Given the description of an element on the screen output the (x, y) to click on. 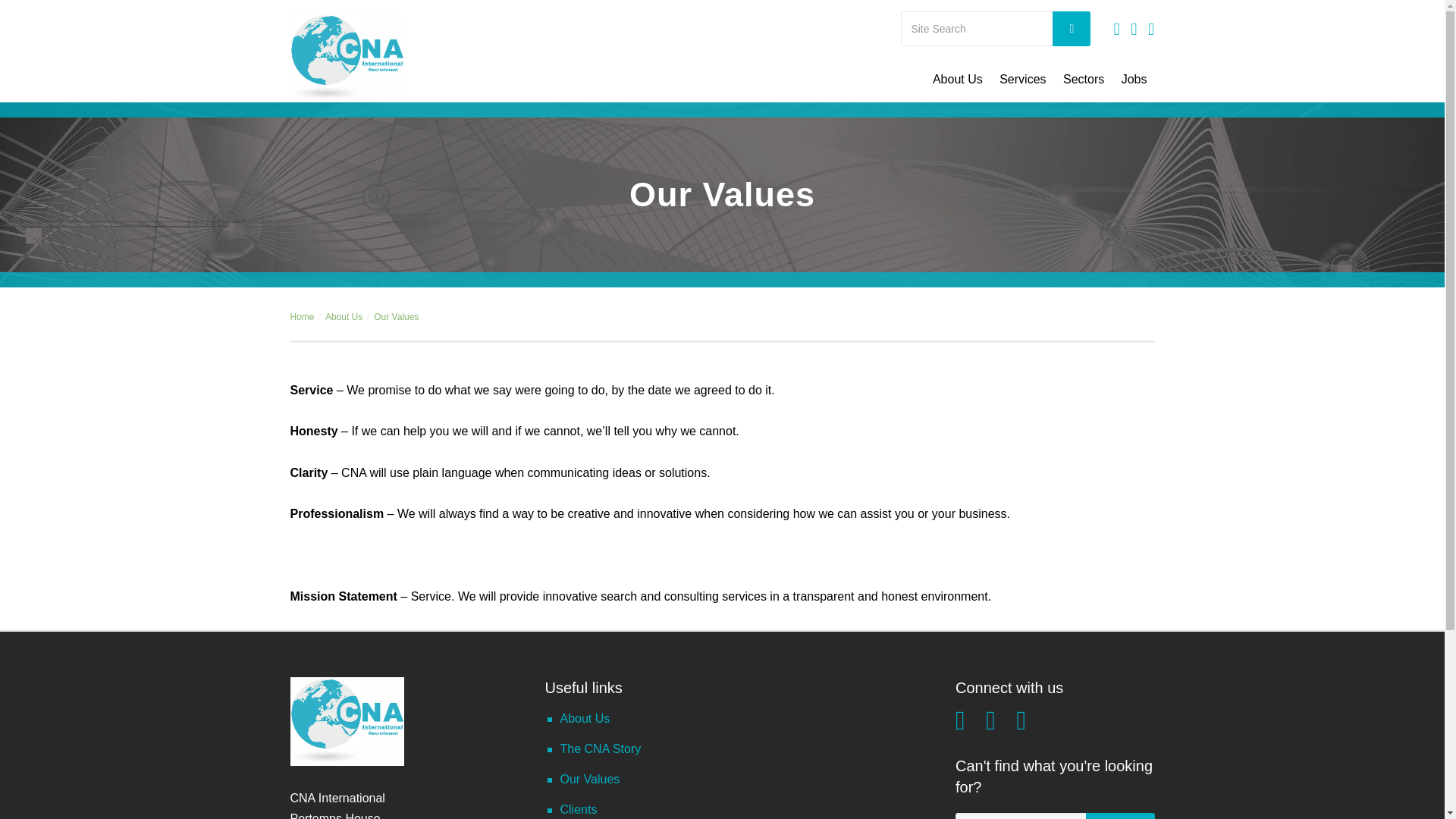
About Us (958, 79)
Jobs (1134, 79)
Services (1022, 79)
Sectors (1083, 79)
